Given the description of an element on the screen output the (x, y) to click on. 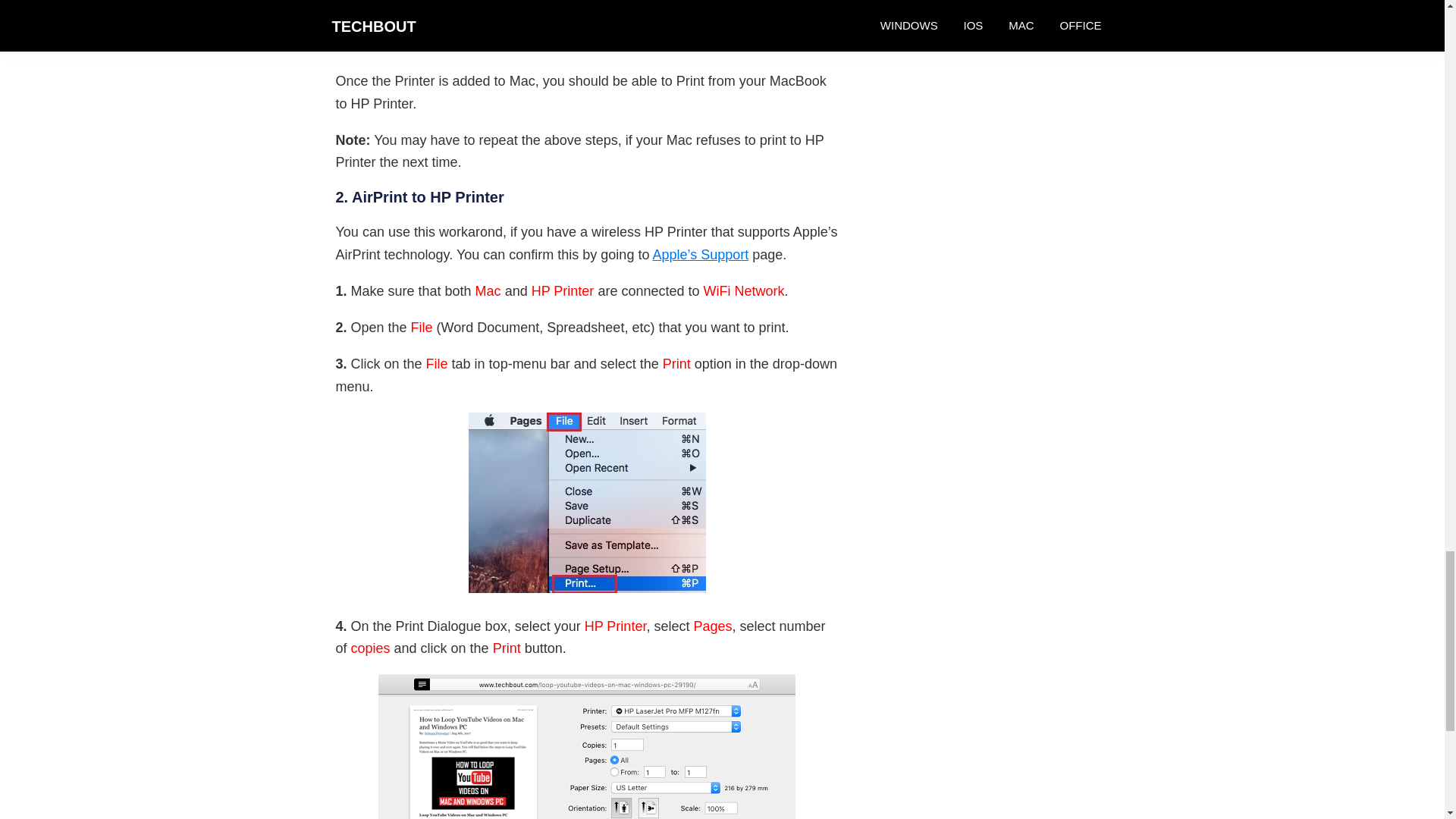
Add Printer to Mac (586, 23)
Print File Option on Mac (587, 502)
Print Headers and Footers Option on Mac (586, 746)
